Given the description of an element on the screen output the (x, y) to click on. 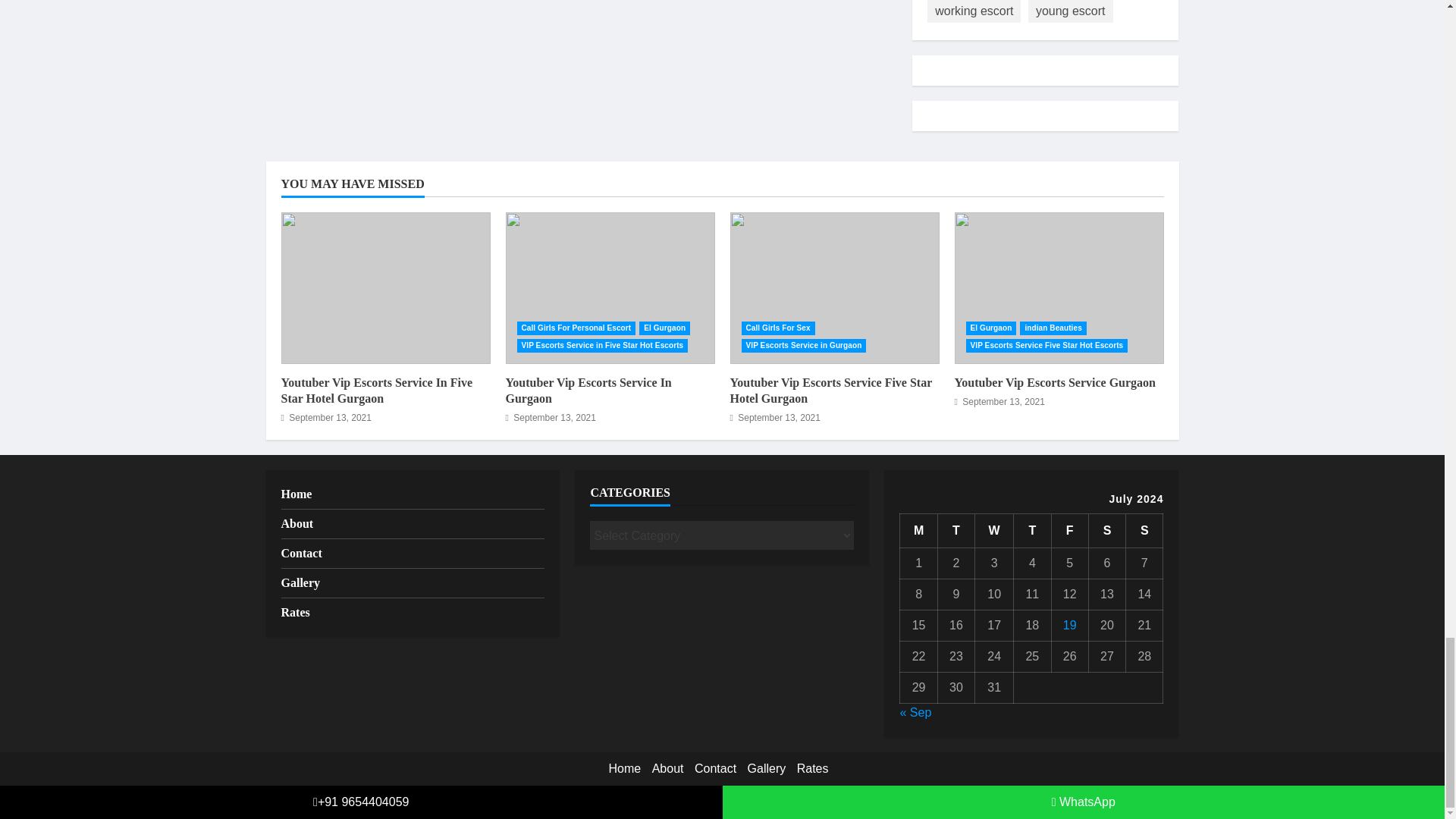
Sunday (1144, 530)
Friday (1069, 530)
Wednesday (994, 530)
Tuesday (955, 530)
Saturday (1106, 530)
Thursday (1032, 530)
Monday (918, 530)
